Given the description of an element on the screen output the (x, y) to click on. 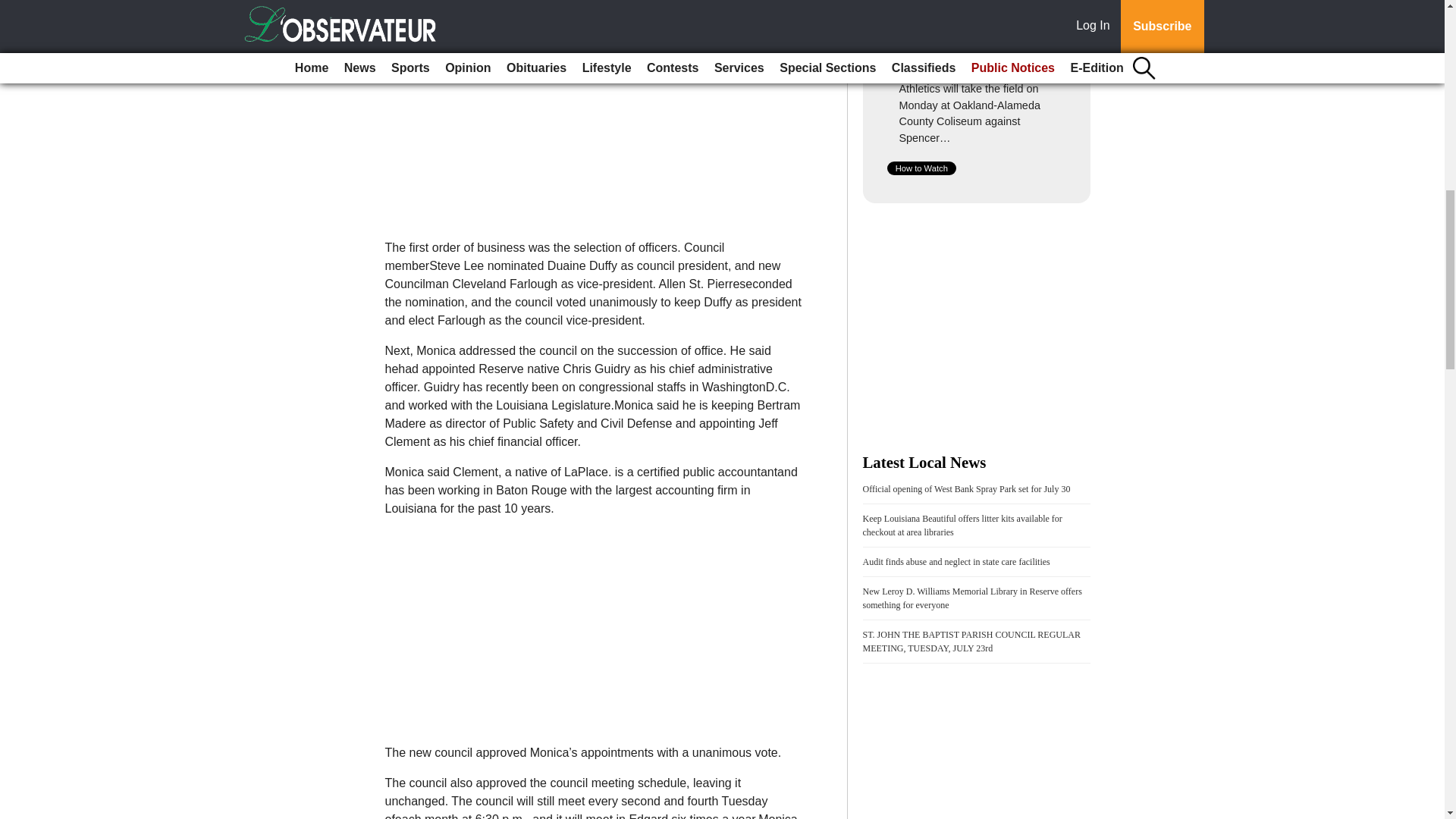
Official opening of West Bank Spray Park set for July 30 (966, 489)
How to Watch (921, 168)
Audit finds abuse and neglect in state care facilities (956, 561)
